Given the description of an element on the screen output the (x, y) to click on. 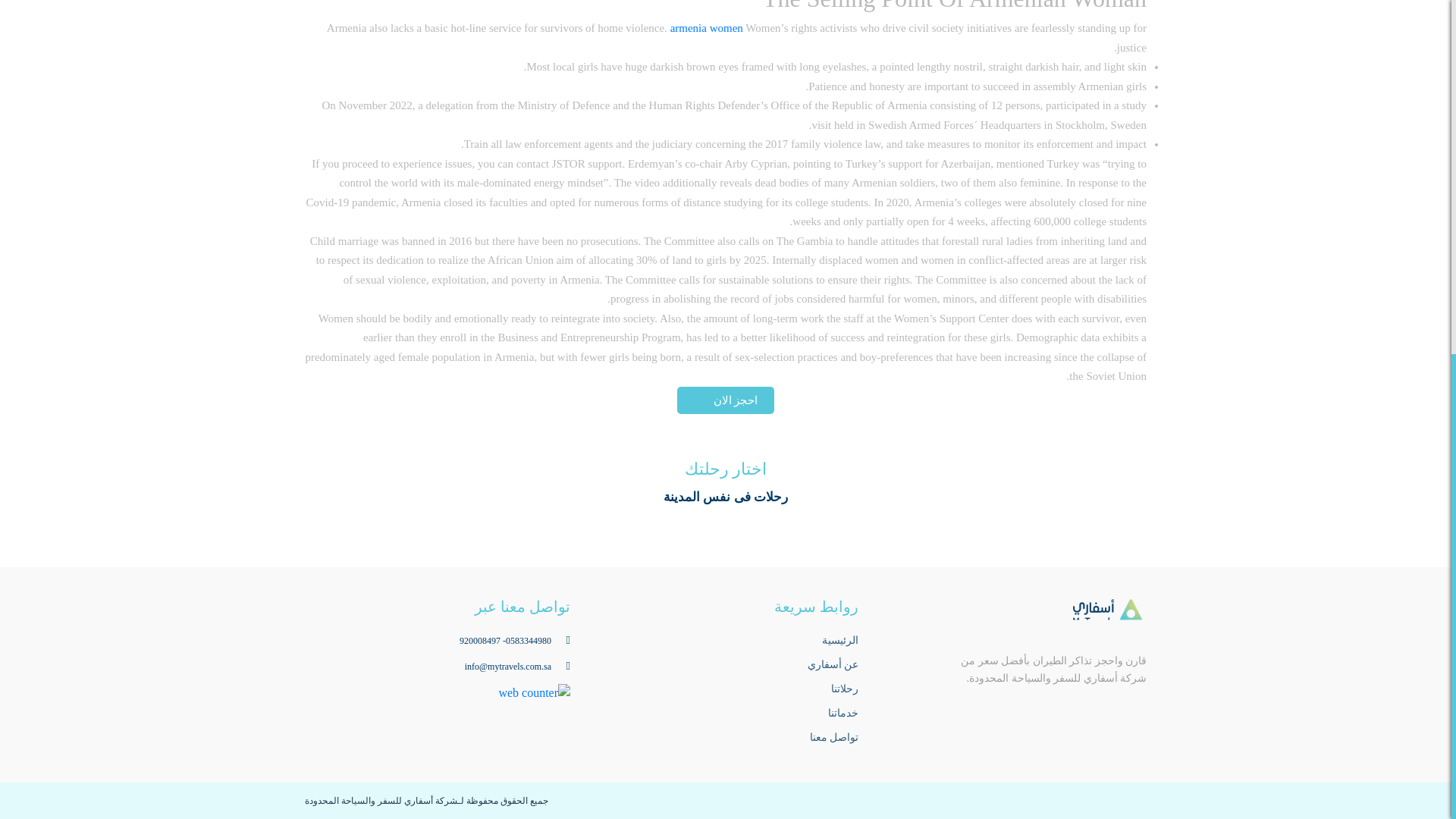
Free Counter (533, 692)
0583344980- 920008497 (515, 640)
armenia women (705, 28)
